Given the description of an element on the screen output the (x, y) to click on. 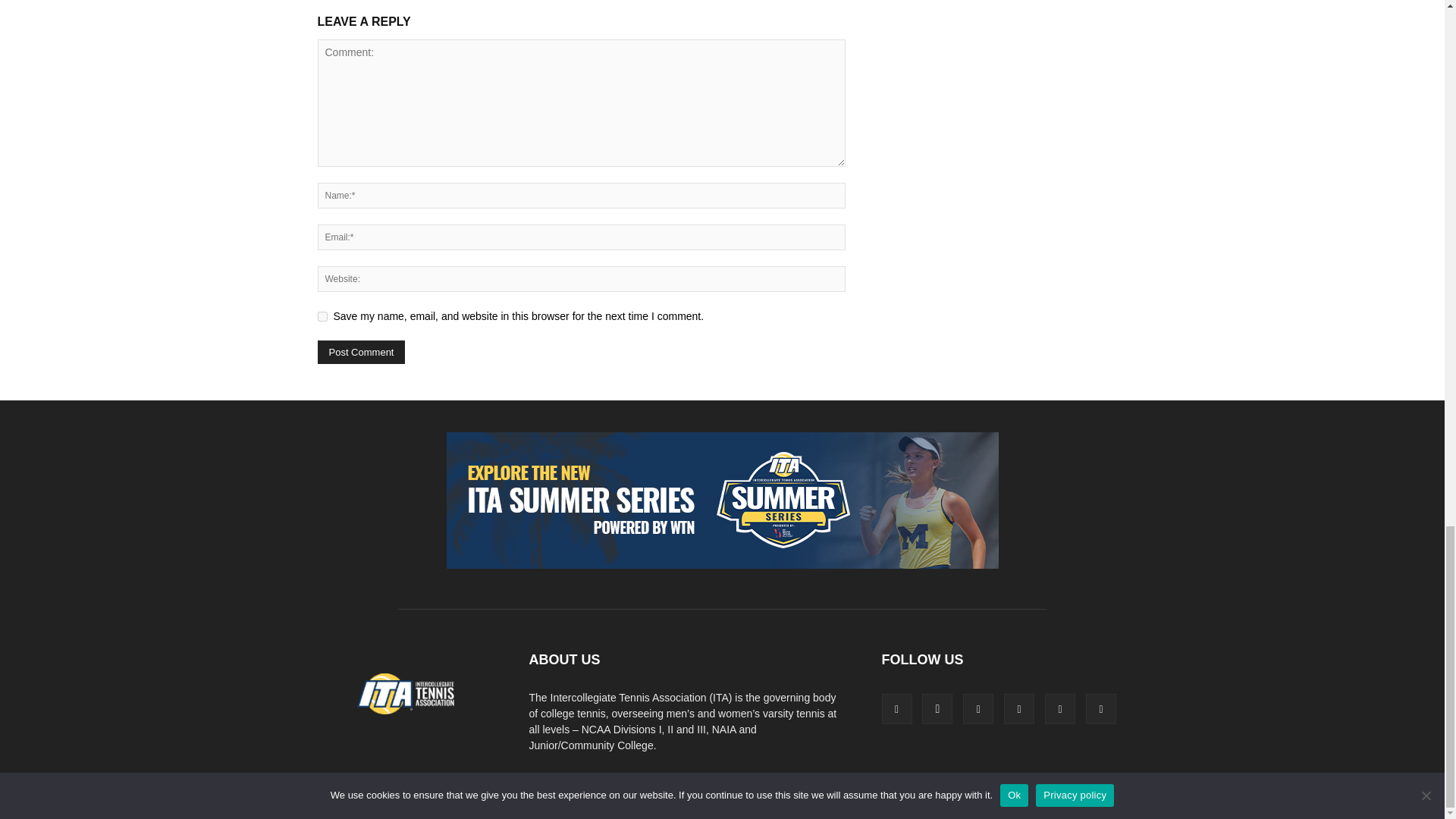
yes (321, 316)
Post Comment (360, 351)
